Given the description of an element on the screen output the (x, y) to click on. 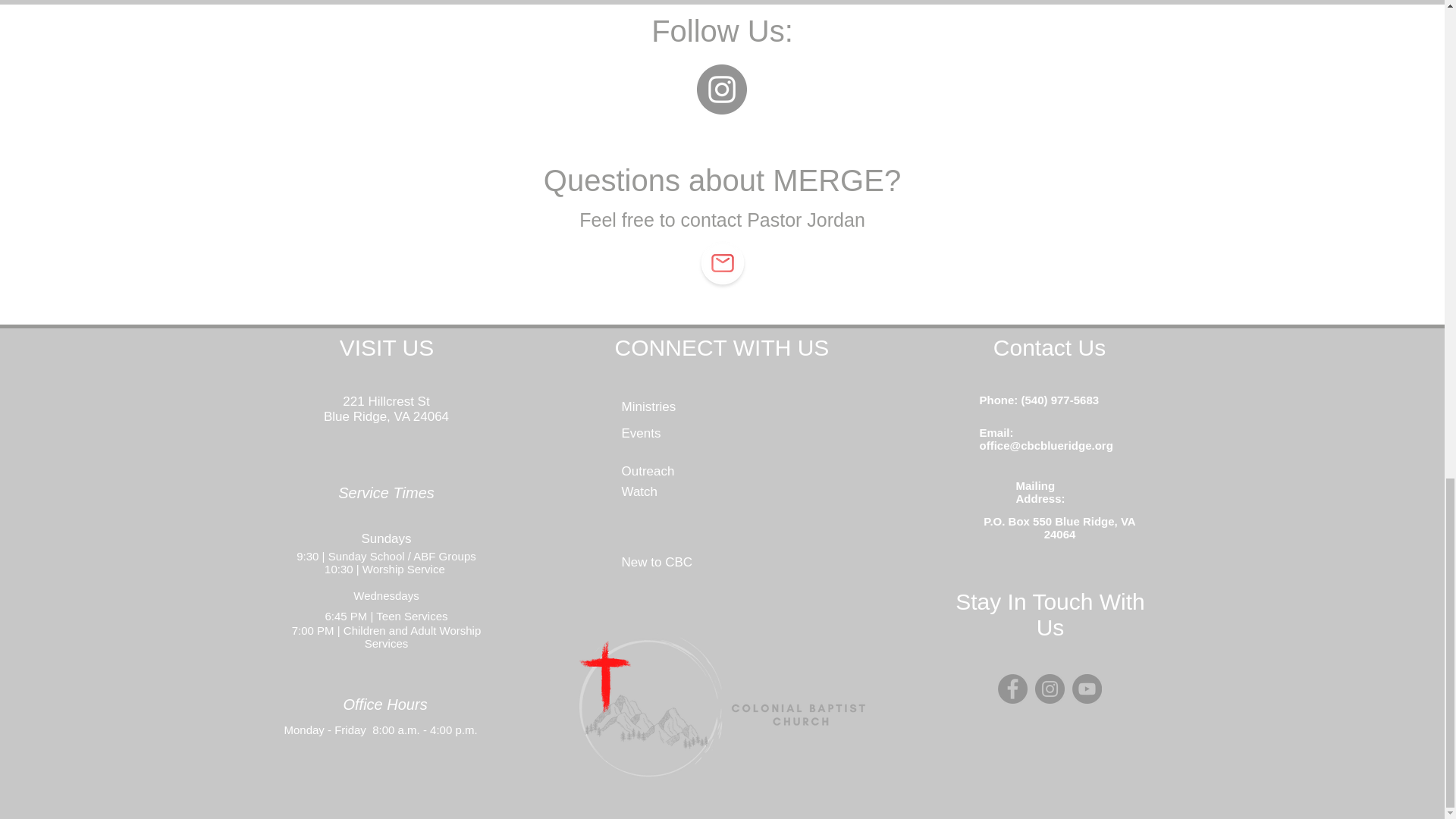
Events (641, 432)
Ministries (649, 406)
Watch (639, 491)
New to CBC (657, 562)
Outreach (648, 471)
